Given the description of an element on the screen output the (x, y) to click on. 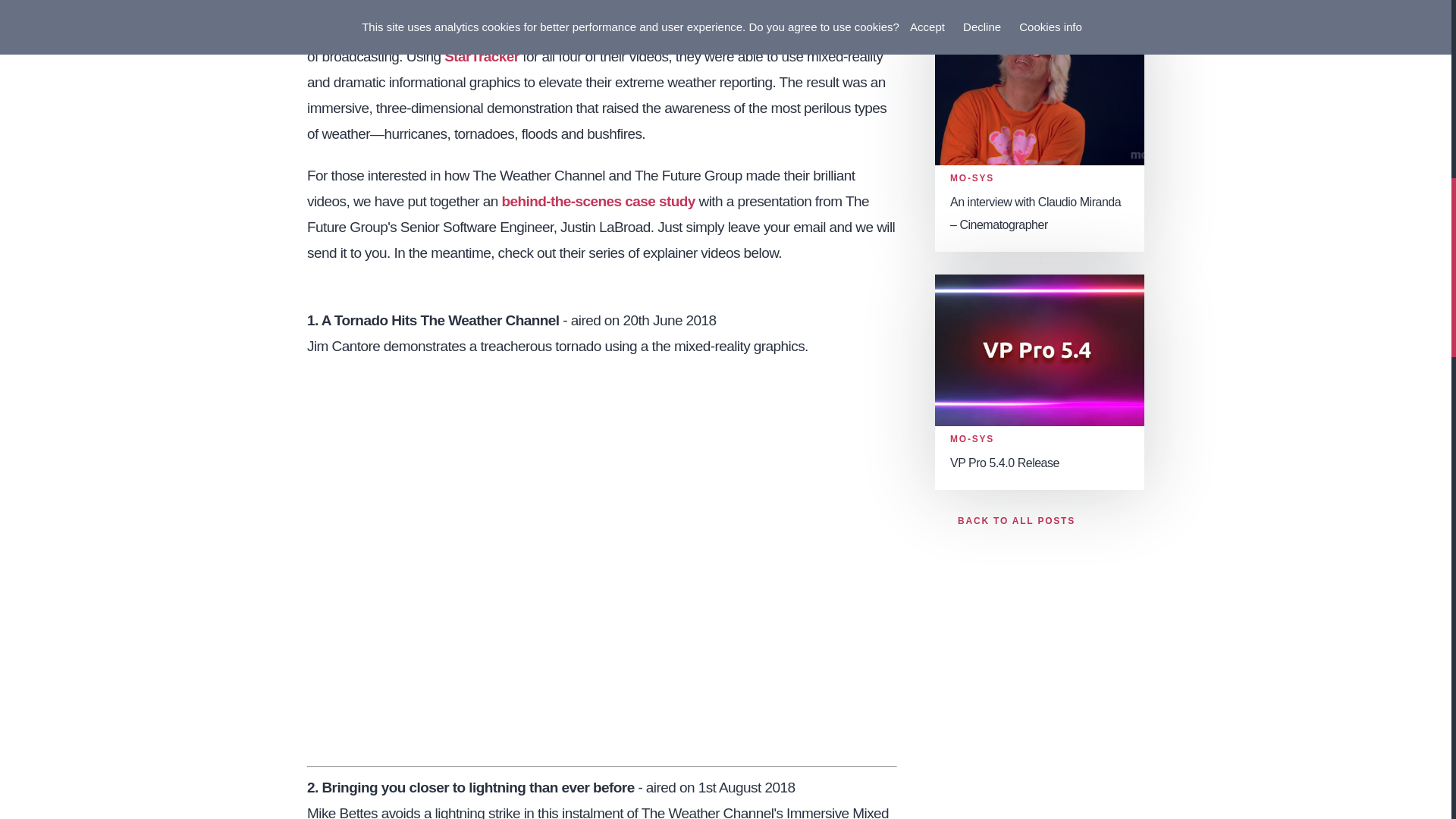
behind-the-scenes case study (597, 201)
BACK TO ALL POSTS (1004, 519)
StarTracker (481, 56)
